Given the description of an element on the screen output the (x, y) to click on. 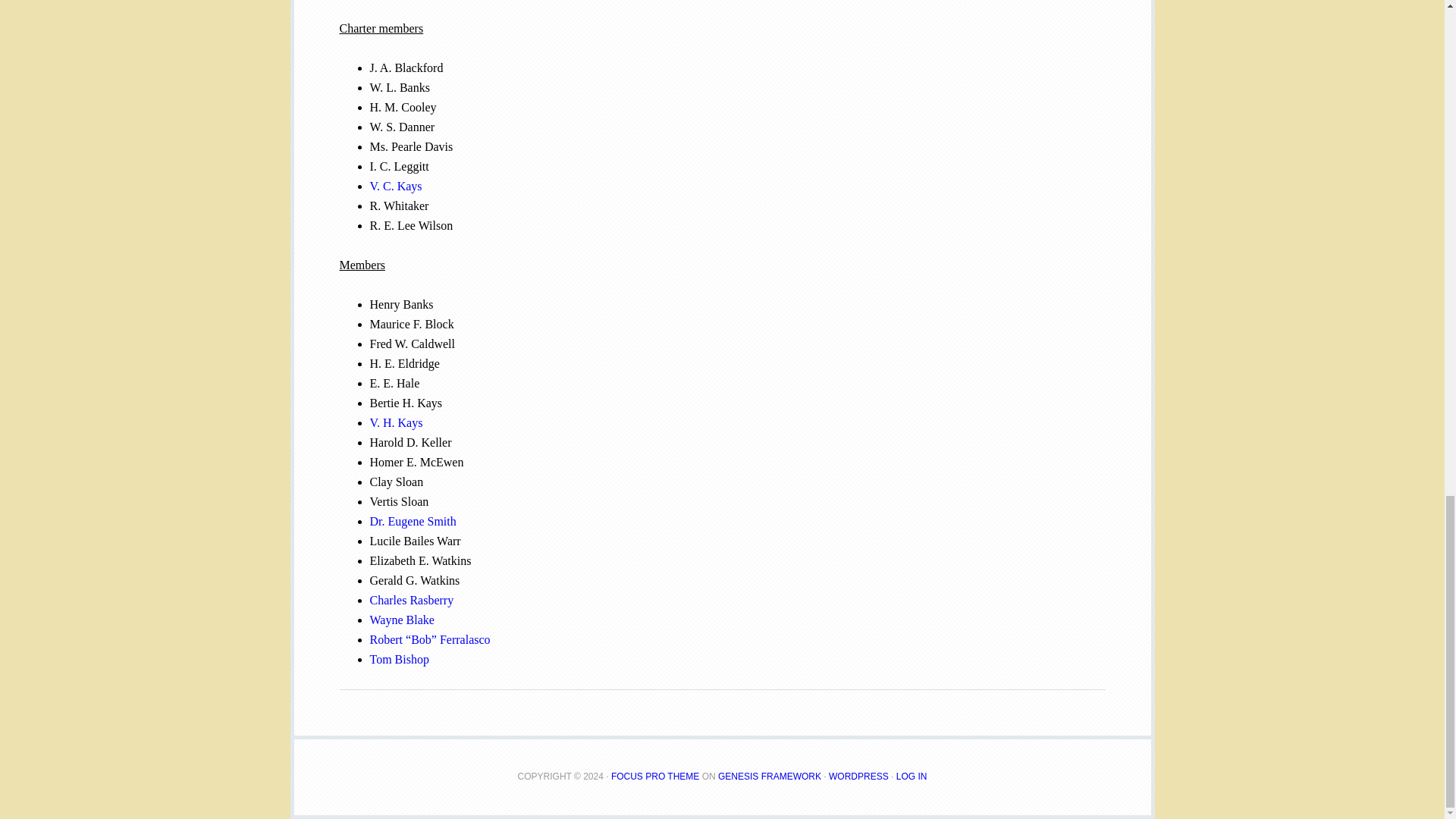
FOCUS PRO THEME (654, 776)
Tom Bishop (399, 658)
Charles Rasberry (411, 599)
Wayne Blake (401, 619)
Dr. Eugene Smith (413, 521)
V. C. Kays (395, 185)
V. H. Kays (396, 422)
GENESIS FRAMEWORK (769, 776)
